Given the description of an element on the screen output the (x, y) to click on. 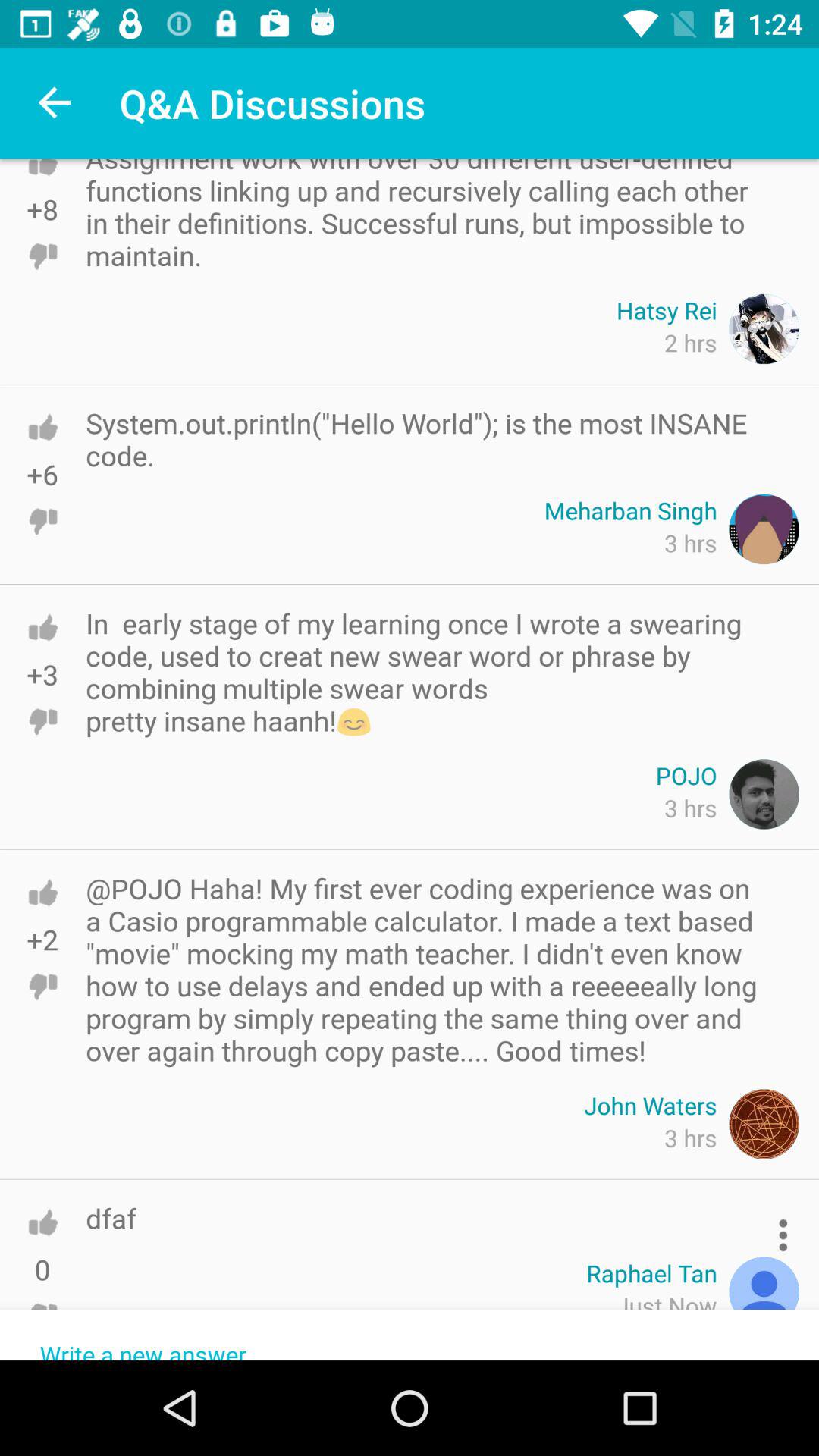
like a comment (42, 627)
